Given the description of an element on the screen output the (x, y) to click on. 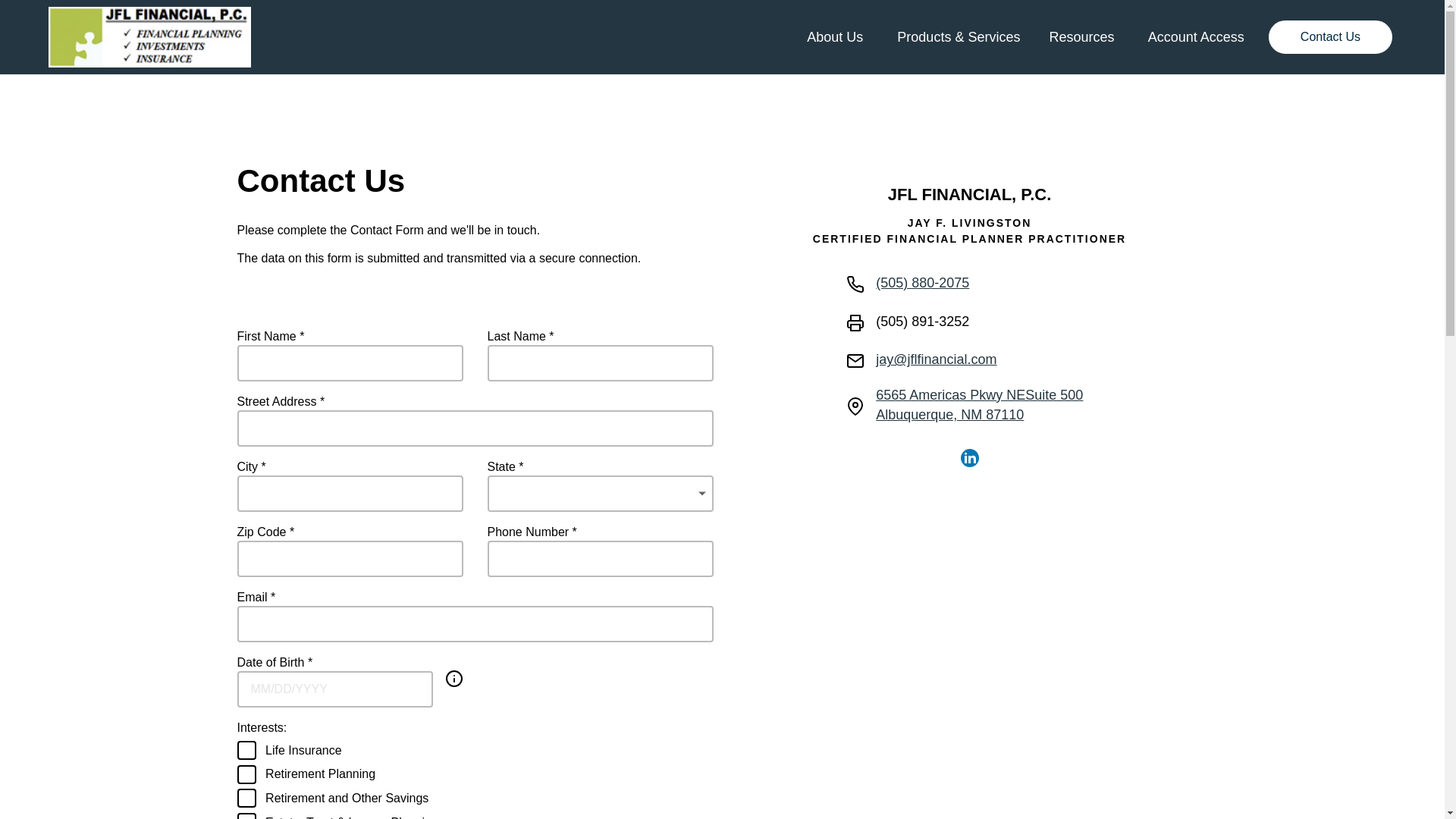
Retirement Planning (245, 774)
About Us (832, 36)
phone (854, 284)
fax (854, 322)
map-pin (854, 406)
email (854, 361)
Resources (1078, 36)
Life Insurance (245, 750)
Account Access (1190, 36)
Contact Us (1329, 37)
This helps us understand your immediate needs. (453, 680)
Retirement and Other Savings (245, 798)
6565 Americas Pkwy NESuite 500 (984, 395)
